Given the description of an element on the screen output the (x, y) to click on. 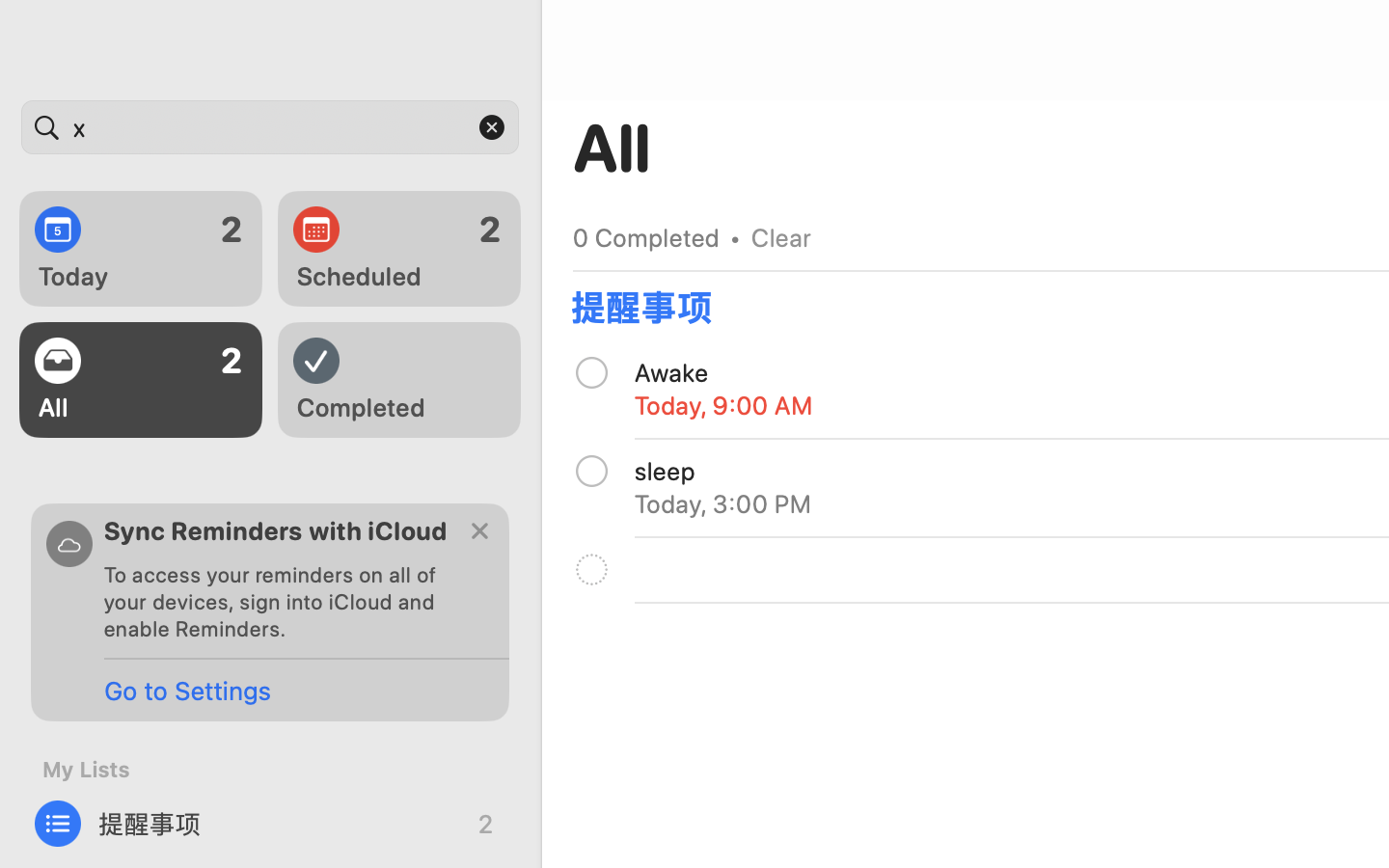
Today, 3:00 PM Element type: AXStaticText (723, 503)
提醒事项 Element type: AXTextField (270, 823)
x Element type: AXTextField (269, 127)
